Given the description of an element on the screen output the (x, y) to click on. 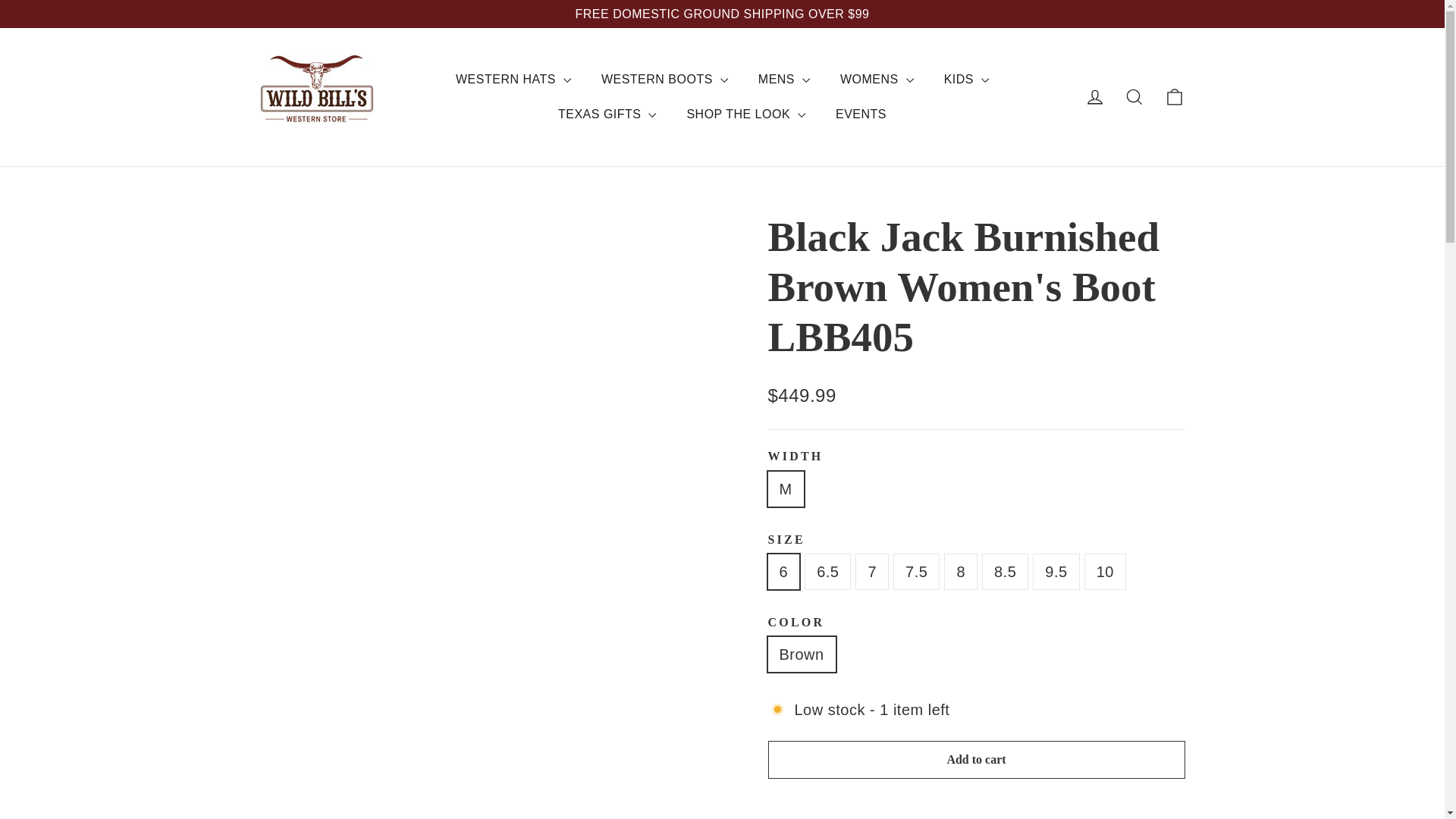
icon-search (1134, 96)
icon-bag-minimal (1174, 96)
account (1094, 96)
